Given the description of an element on the screen output the (x, y) to click on. 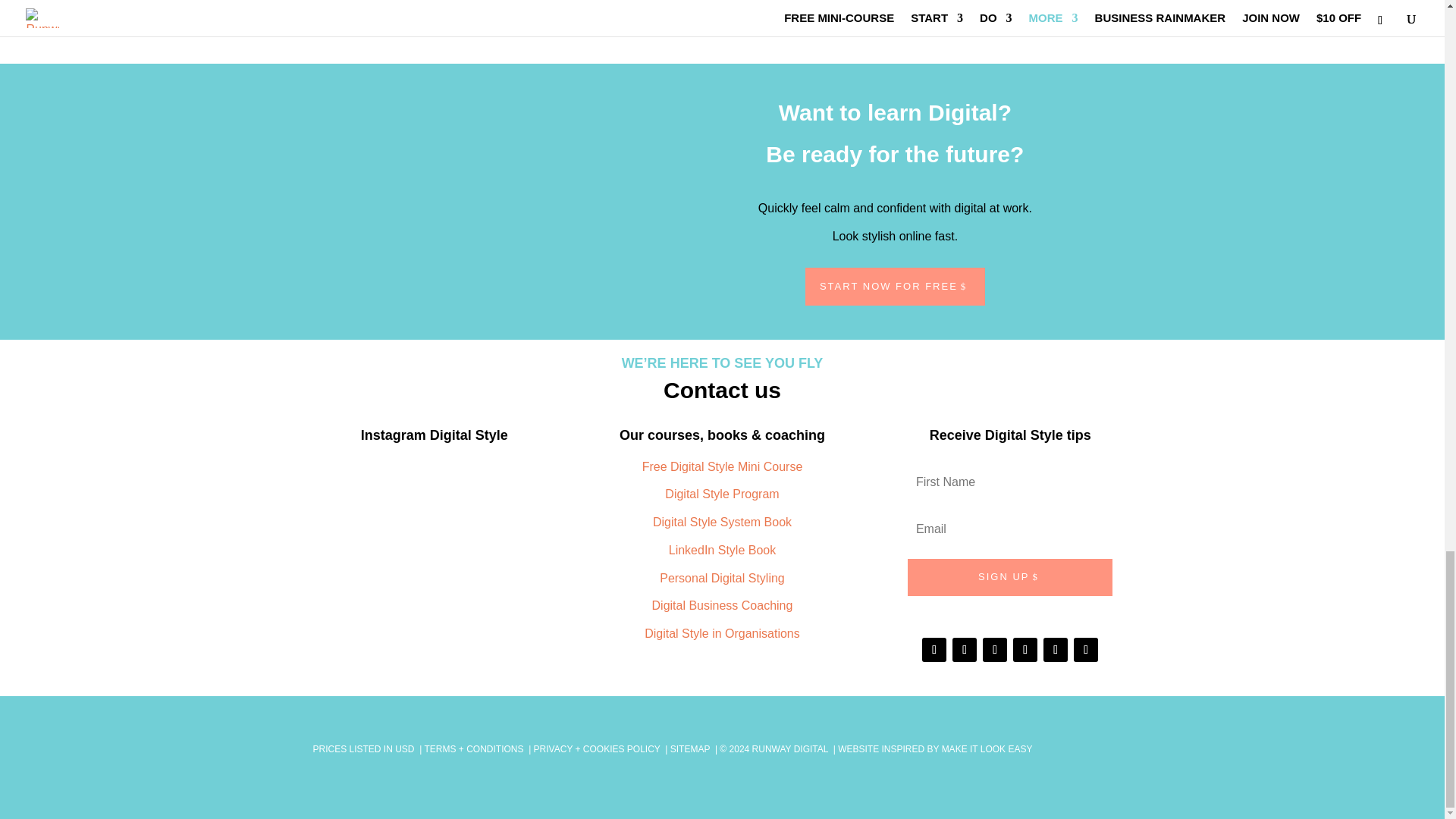
Follow on LinkedIn (504, 18)
Follow on Pinterest (564, 18)
Follow on Vimeo (595, 18)
Follow on Twitter (534, 18)
